Given the description of an element on the screen output the (x, y) to click on. 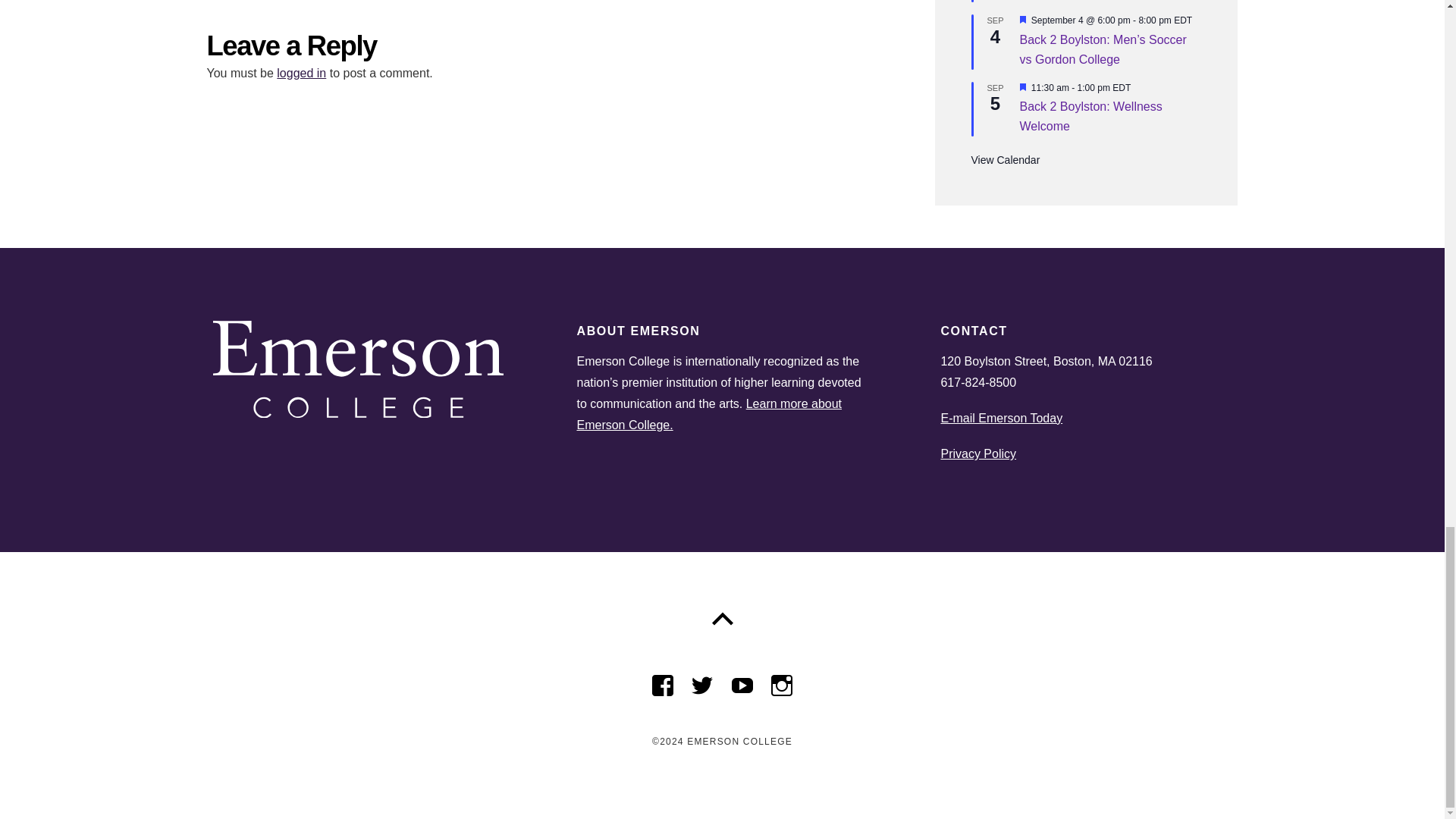
logged in (301, 72)
View more events. (1005, 160)
Back 2 Boylston: Wellness Welcome (1090, 116)
